Given the description of an element on the screen output the (x, y) to click on. 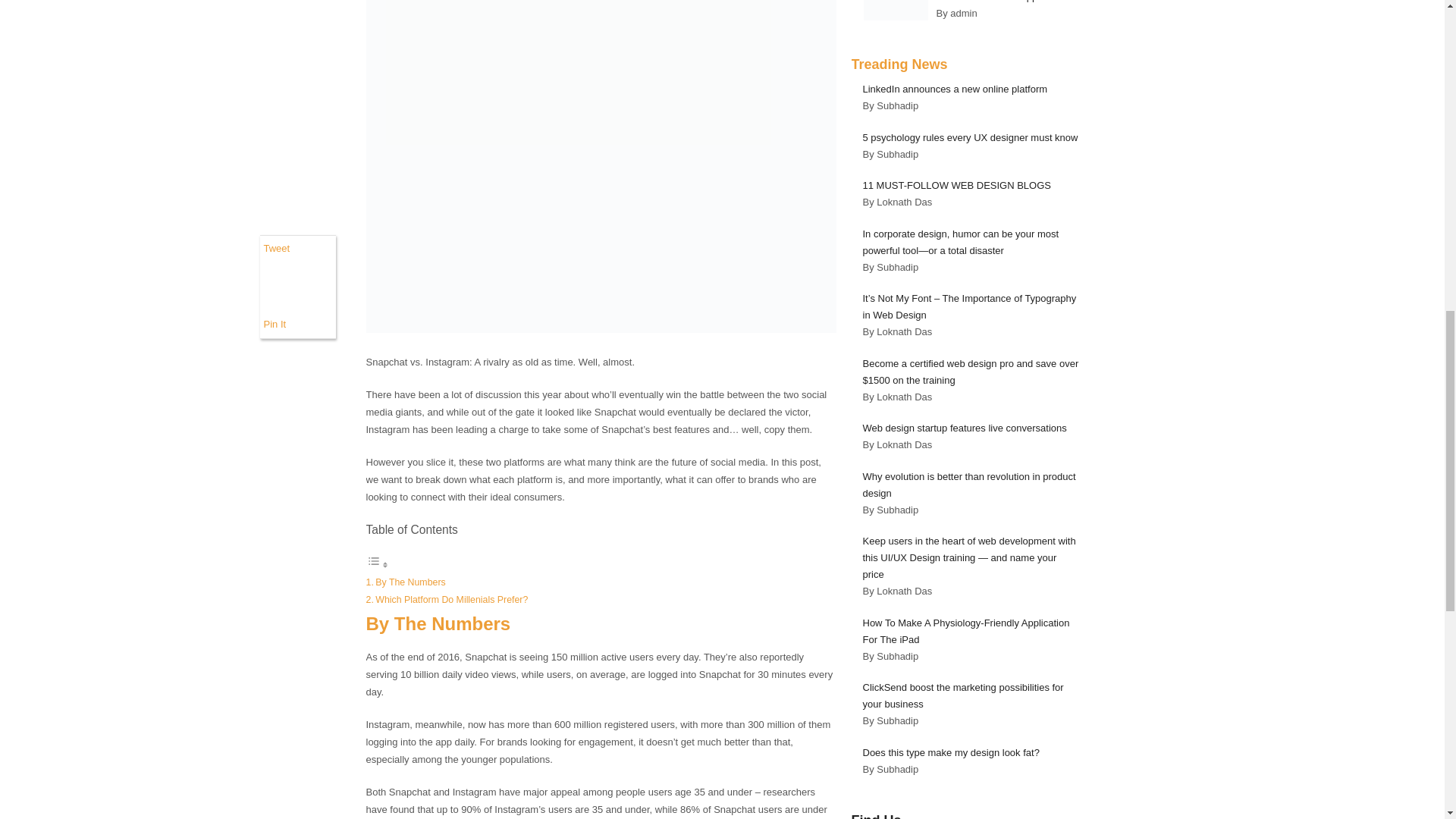
Which Platform Do Millenials Prefer? (451, 599)
LinkedIn announces a new online platform (955, 89)
5 psychology rules every UX designer must know (970, 137)
By The Numbers (410, 582)
By The Numbers (410, 582)
Which Platform Do Millenials Prefer? (451, 599)
